Given the description of an element on the screen output the (x, y) to click on. 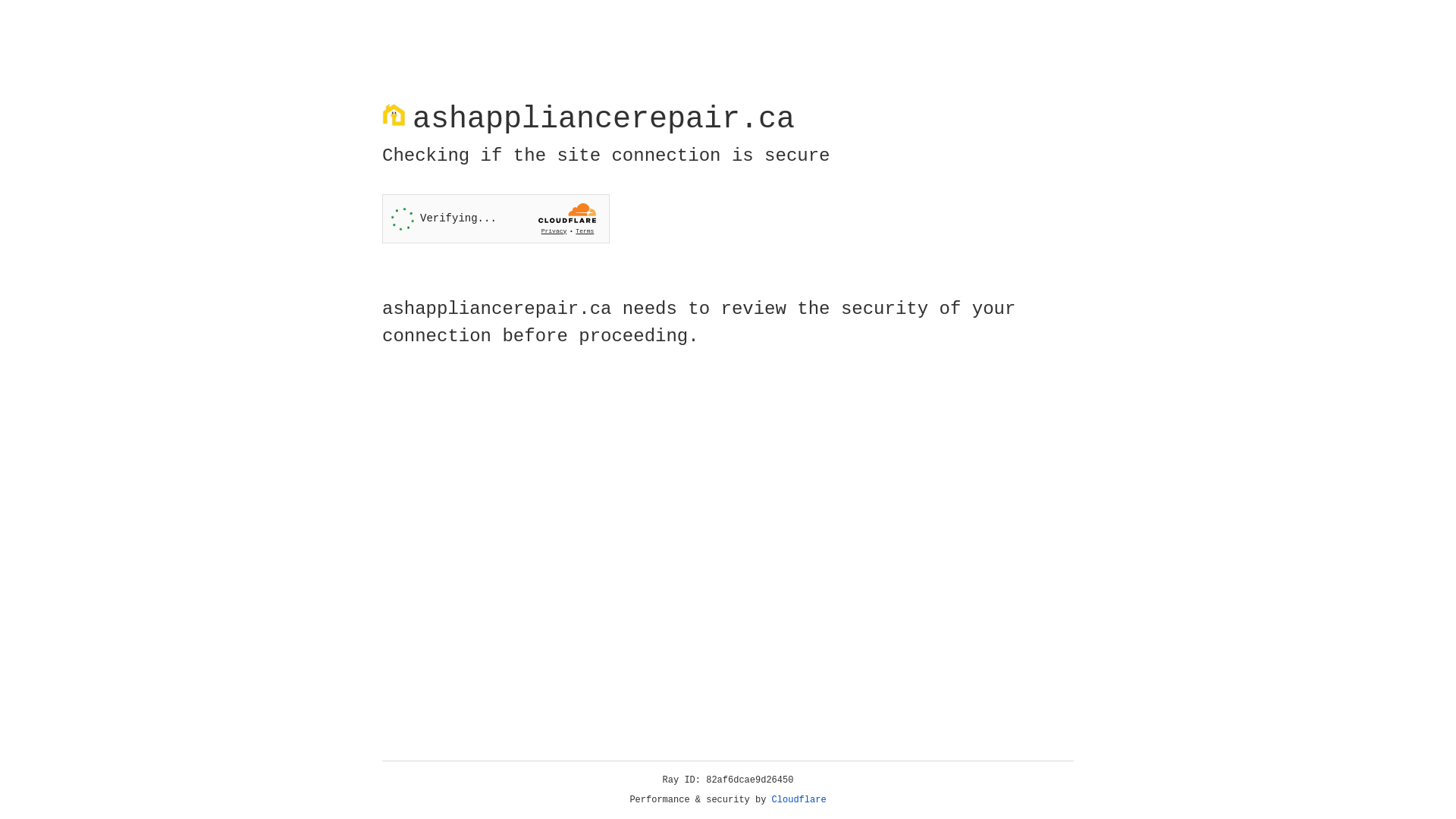
Widget containing a Cloudflare security challenge Element type: hover (495, 218)
Cloudflare Element type: text (798, 799)
